Given the description of an element on the screen output the (x, y) to click on. 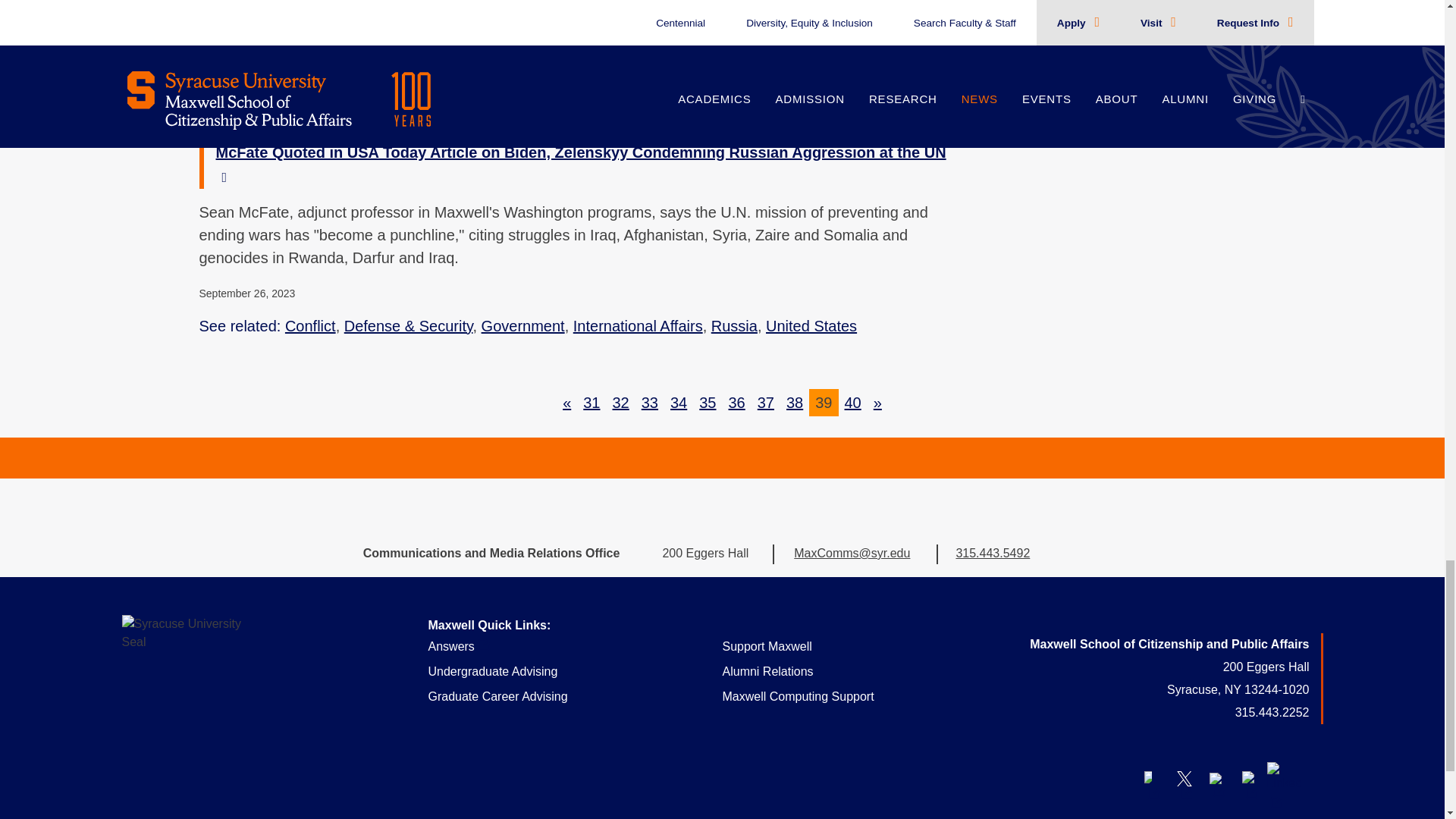
youtube (1216, 778)
linkedin (1283, 778)
su-seal (183, 677)
